Given the description of an element on the screen output the (x, y) to click on. 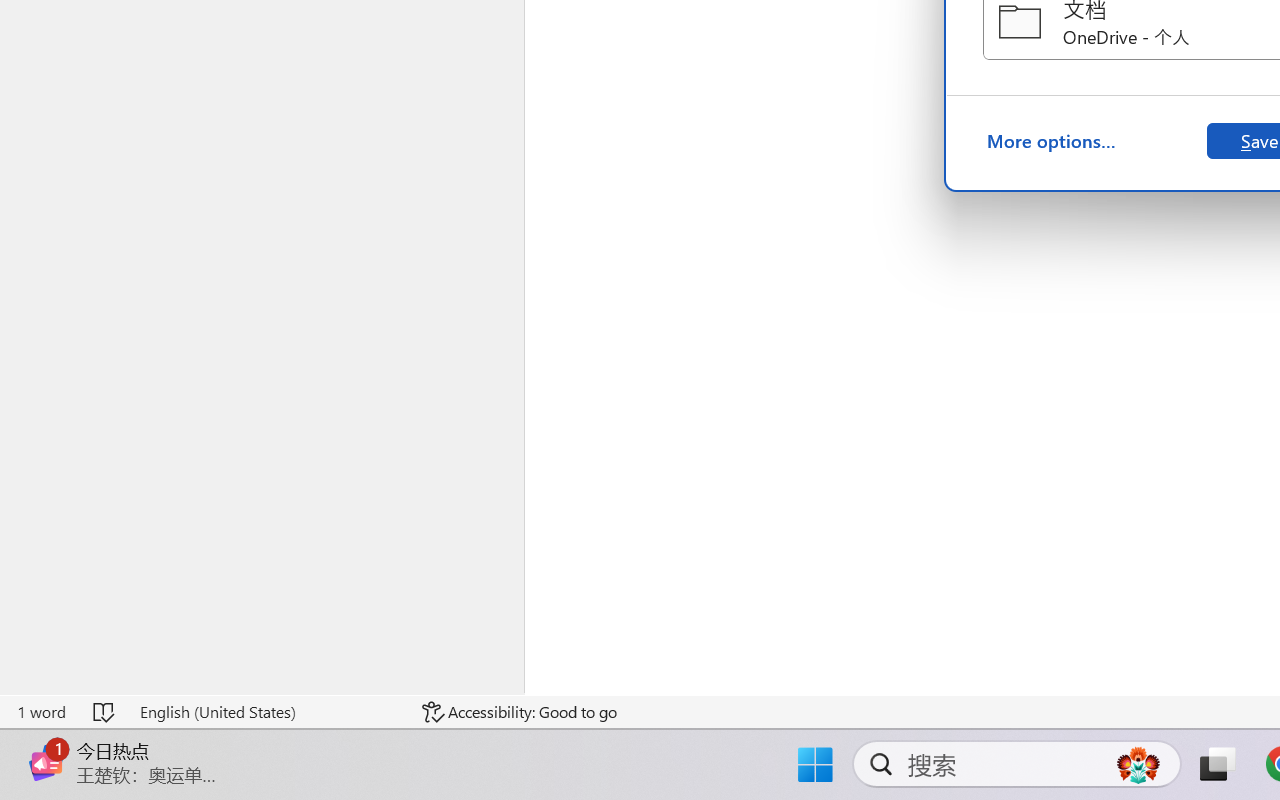
Class: Image (46, 762)
AutomationID: DynamicSearchBoxGleamImage (1138, 764)
Word Count 1 word (41, 712)
Language English (United States) (267, 712)
Accessibility Checker Accessibility: Good to go (519, 712)
Spelling and Grammar Check No Errors (105, 712)
